Given the description of an element on the screen output the (x, y) to click on. 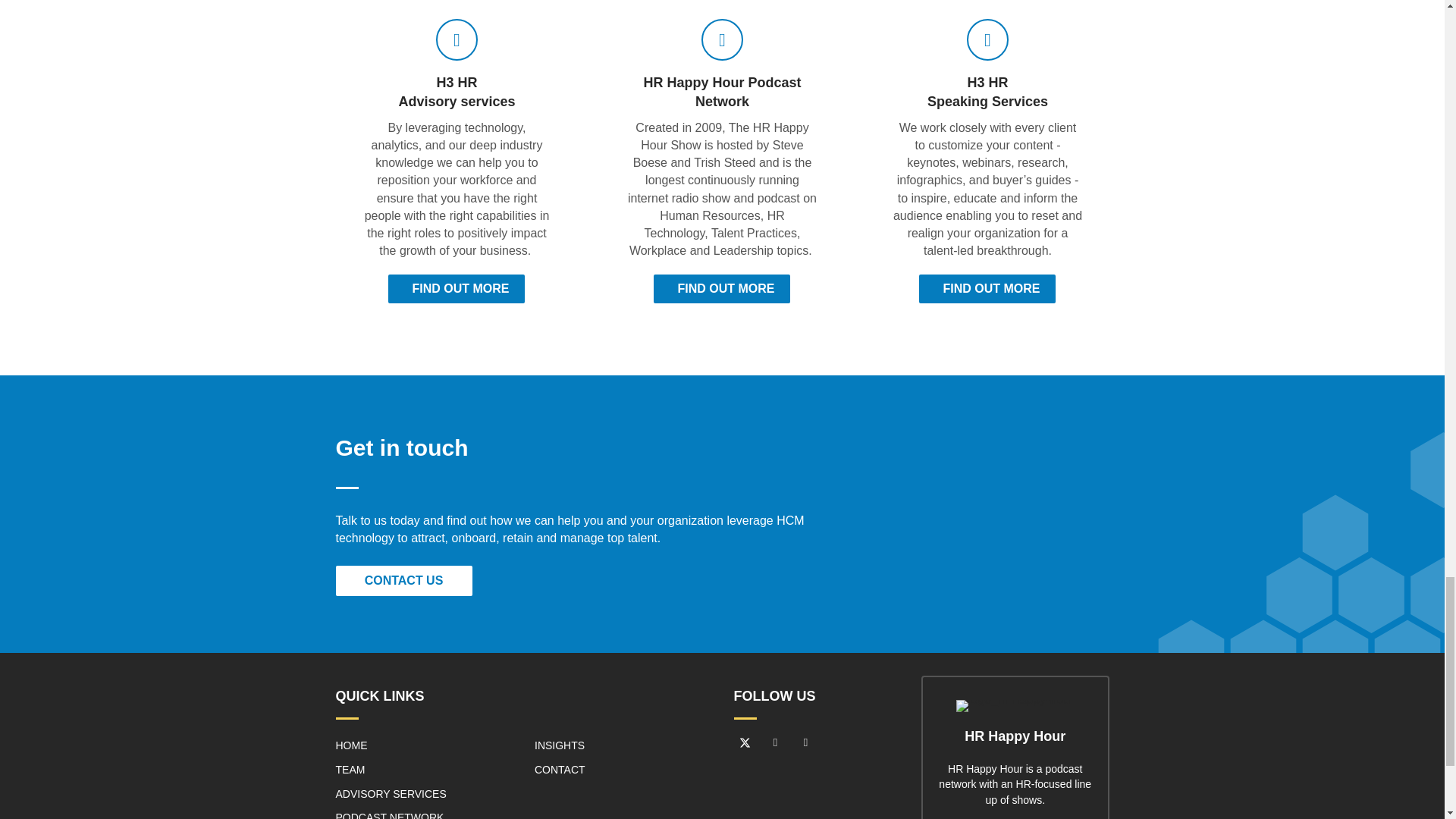
Instagram (805, 742)
LinkedIn (775, 742)
